Given the description of an element on the screen output the (x, y) to click on. 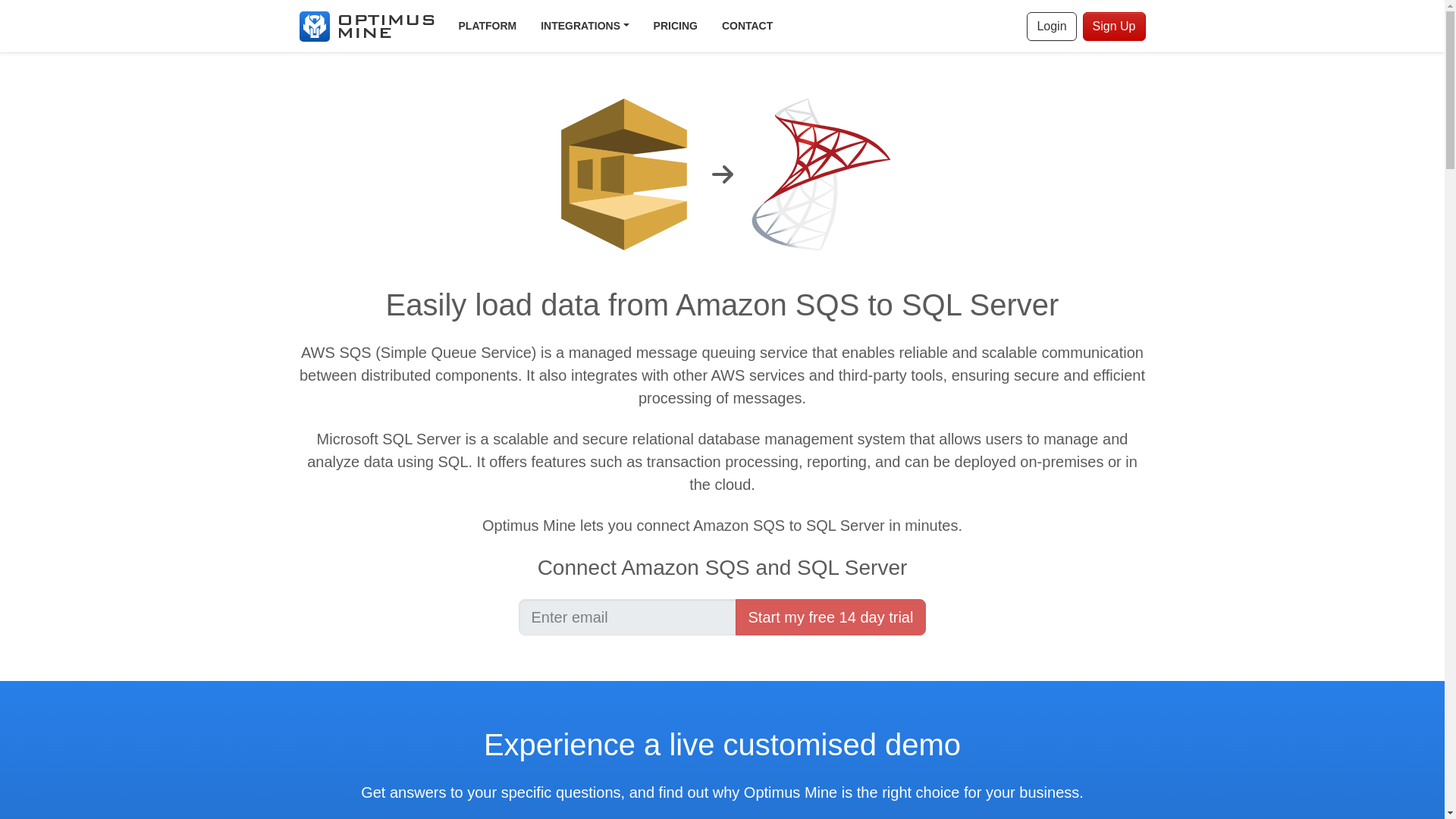
INTEGRATIONS (584, 26)
Start my free 14 day trial (830, 616)
PRICING (676, 26)
CONTACT (747, 26)
PLATFORM (486, 26)
Sign Up (1114, 26)
Login (1050, 26)
